Given the description of an element on the screen output the (x, y) to click on. 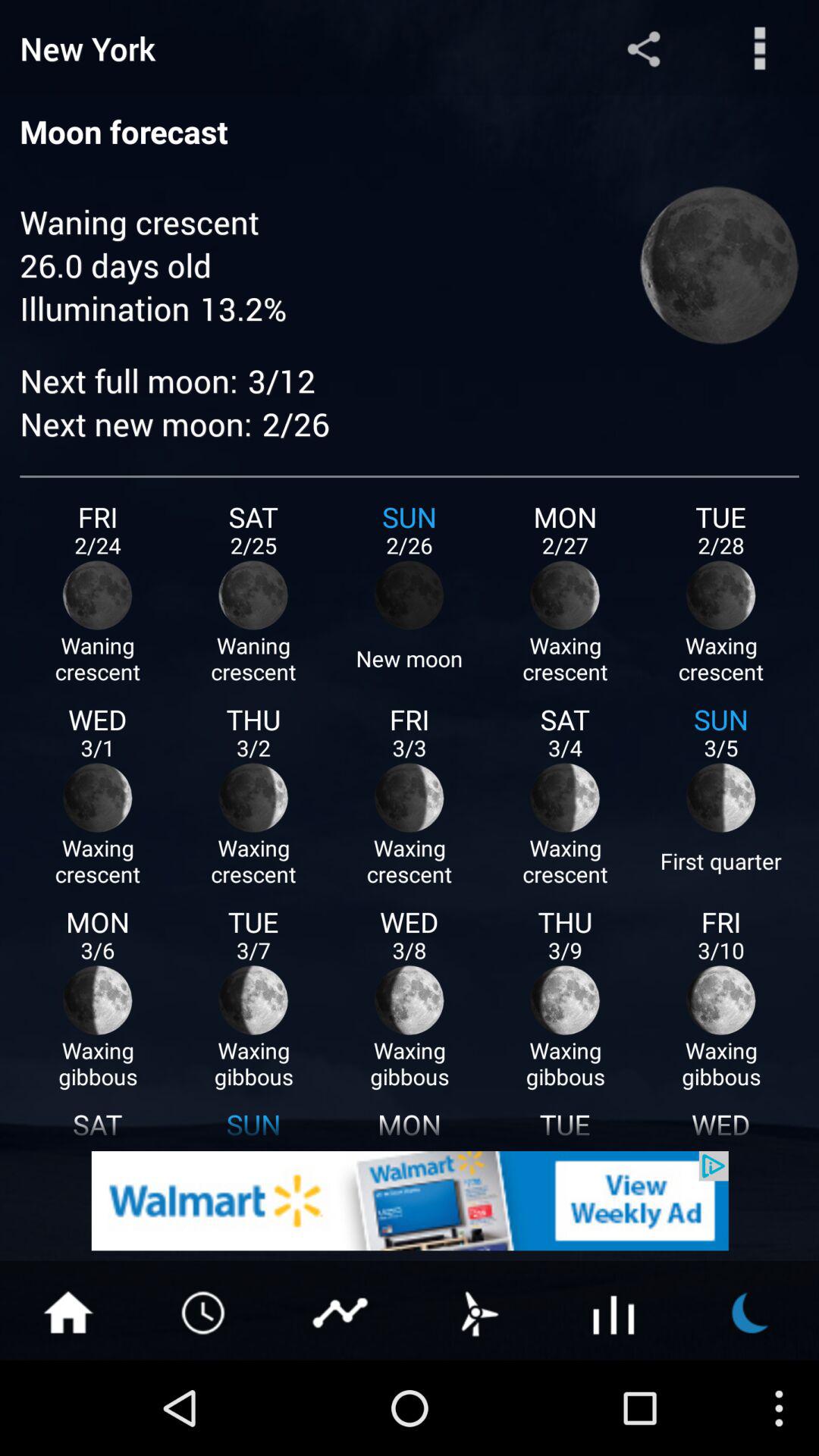
go walmart (409, 1200)
